Given the description of an element on the screen output the (x, y) to click on. 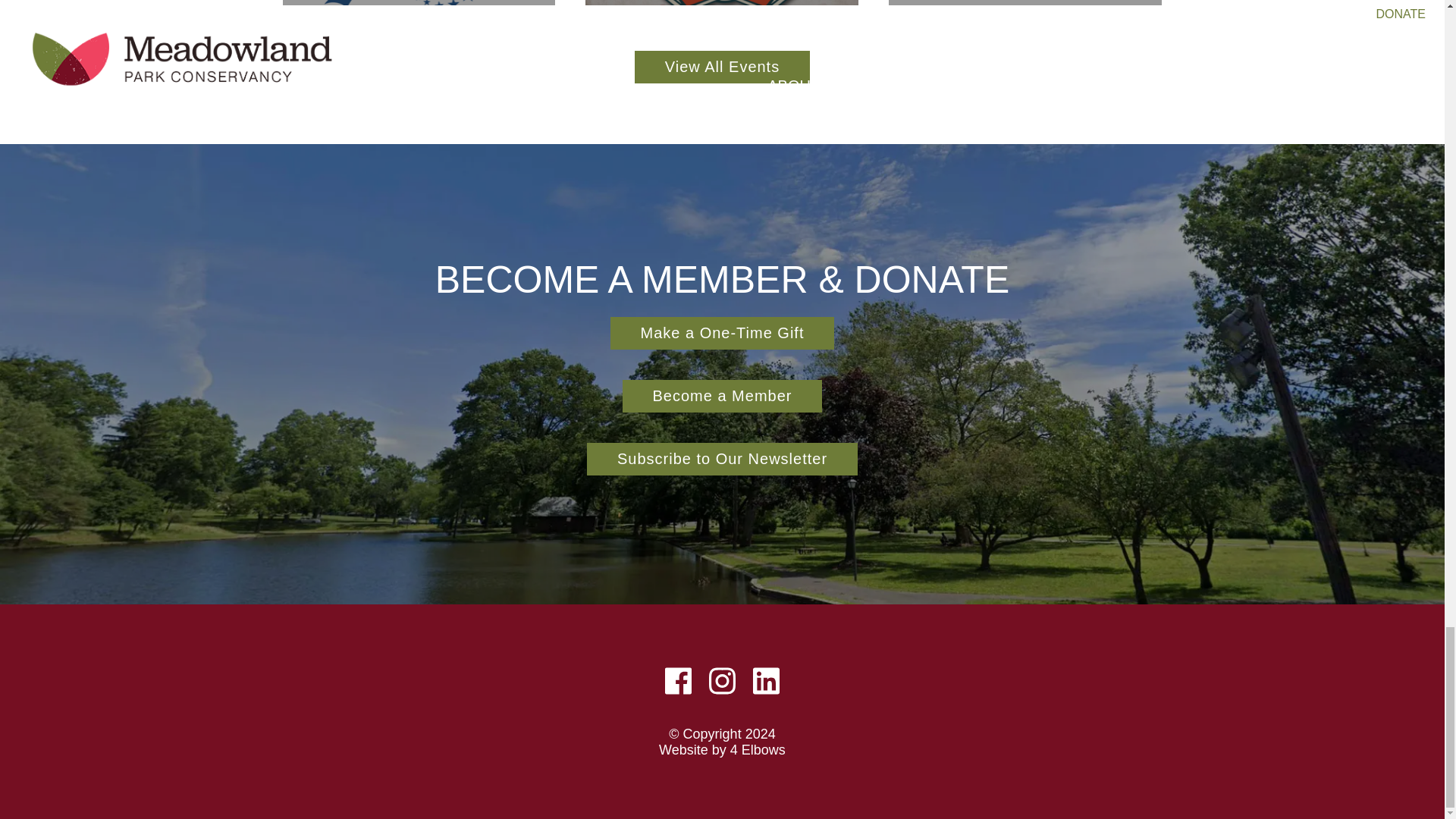
4 Elbows (1024, 2)
Become a Member (758, 749)
Make a One-Time Gift (722, 396)
Subscribe to Our Newsletter (722, 332)
View All Events (418, 2)
